Given the description of an element on the screen output the (x, y) to click on. 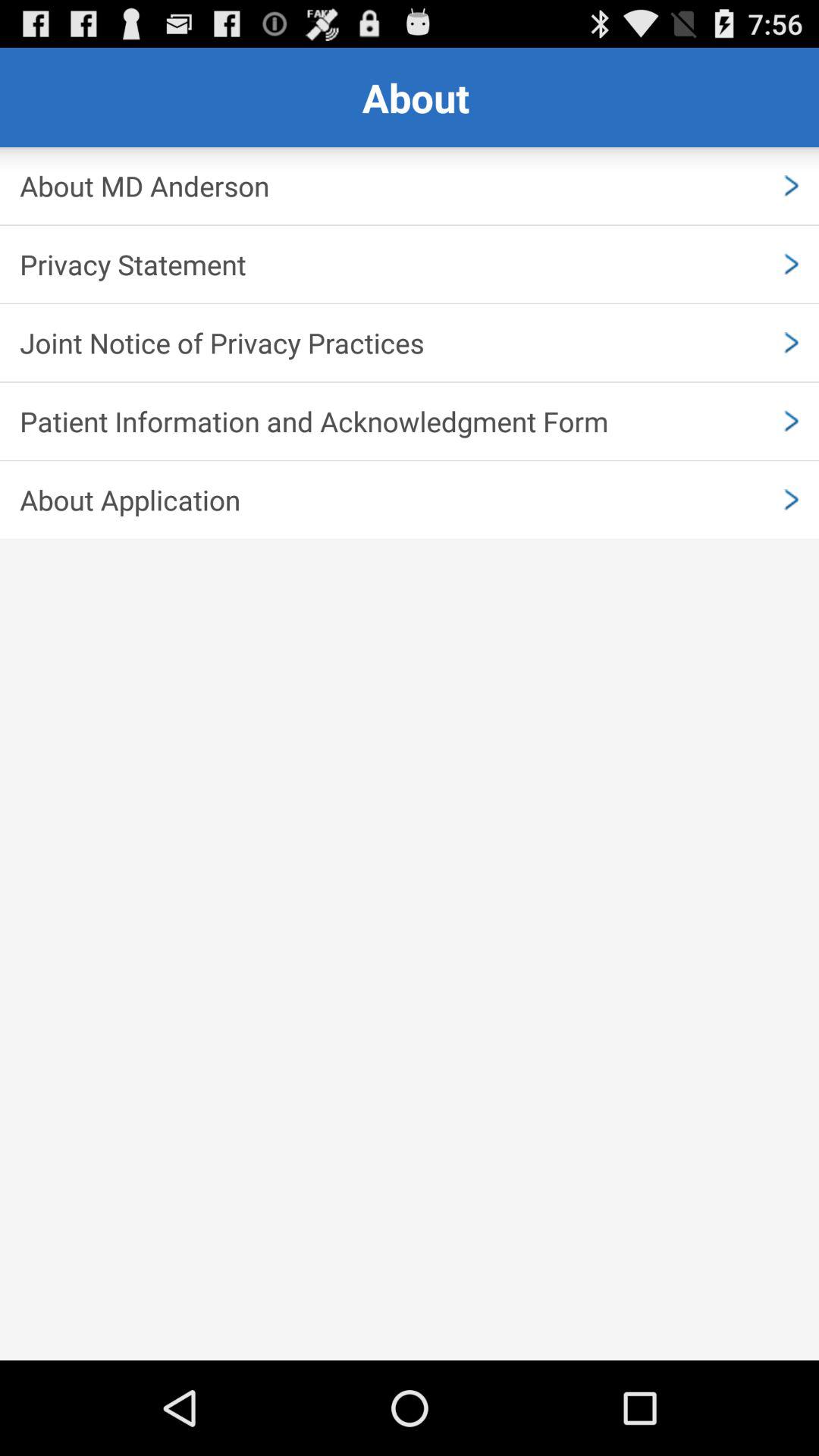
launch item at the center (409, 499)
